Given the description of an element on the screen output the (x, y) to click on. 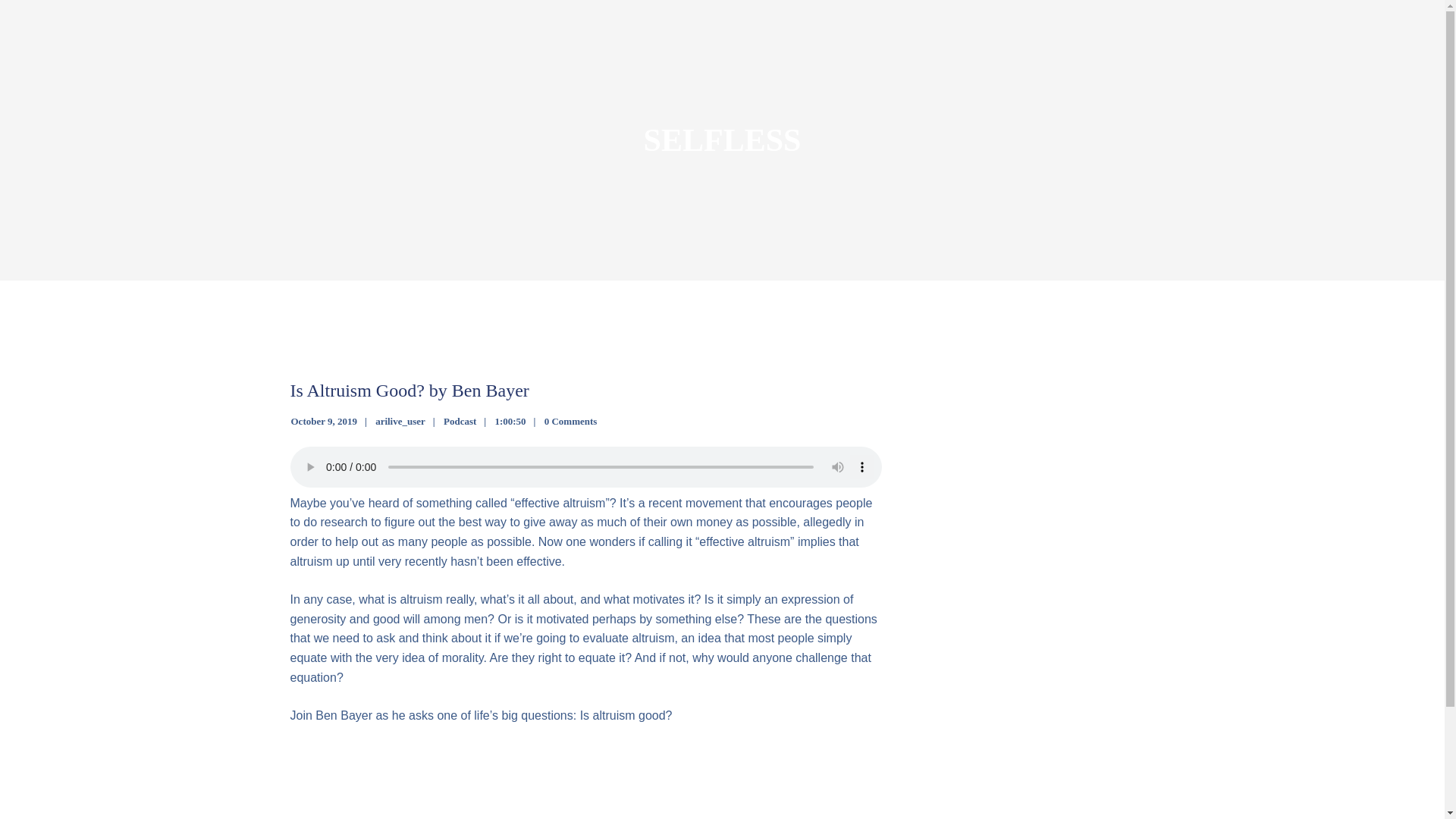
Is Altruism Good? by Ben Bayer (408, 390)
0 Comments (570, 420)
Podcast (460, 420)
October 9, 2019 (324, 420)
